Given the description of an element on the screen output the (x, y) to click on. 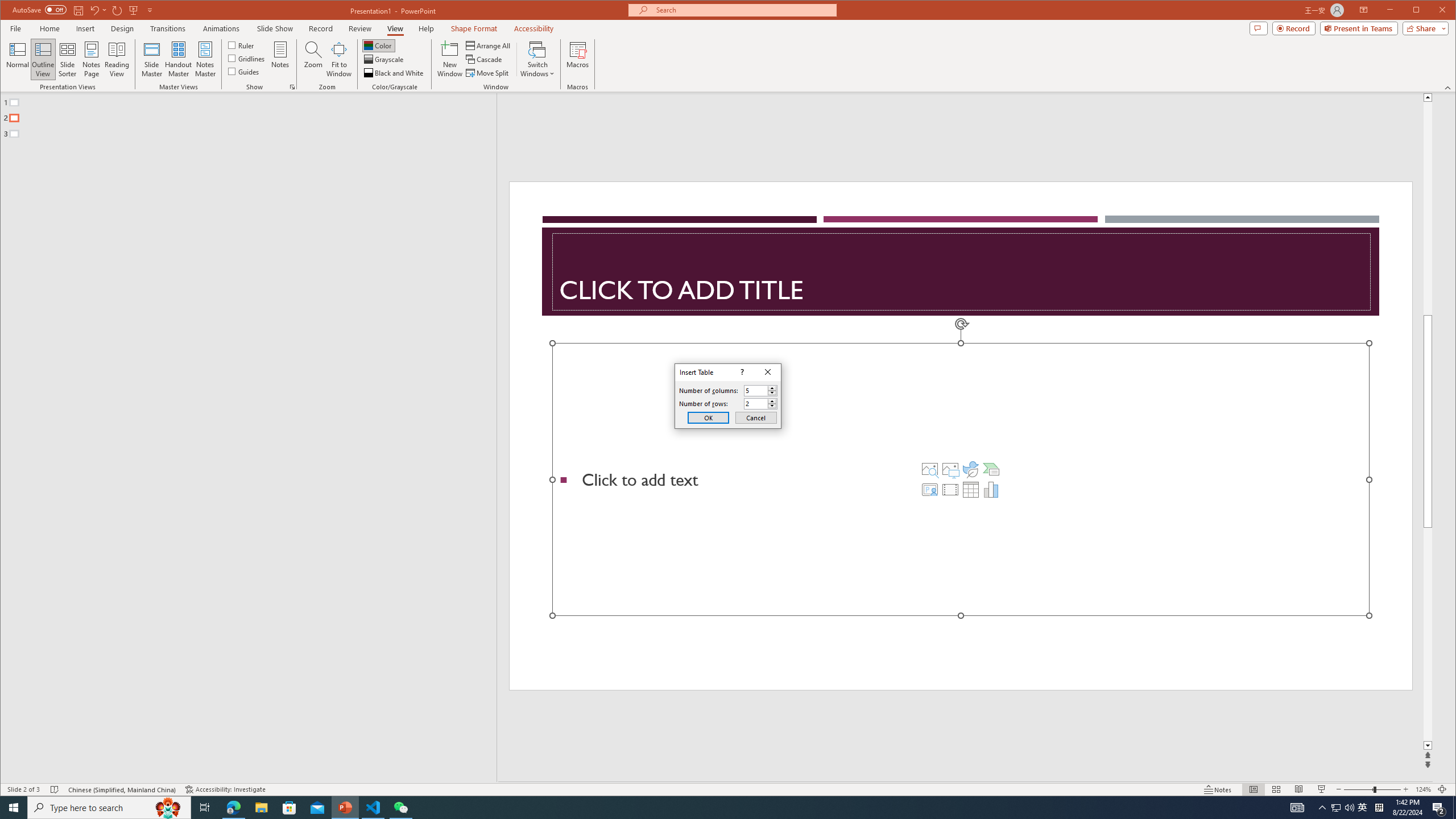
Arrange All (488, 45)
Ruler (241, 44)
Zoom... (312, 59)
Start (13, 807)
Visual Studio Code - 1 running window (373, 807)
Show desktop (1454, 807)
Switch Windows (537, 59)
Running applications (707, 807)
